Given the description of an element on the screen output the (x, y) to click on. 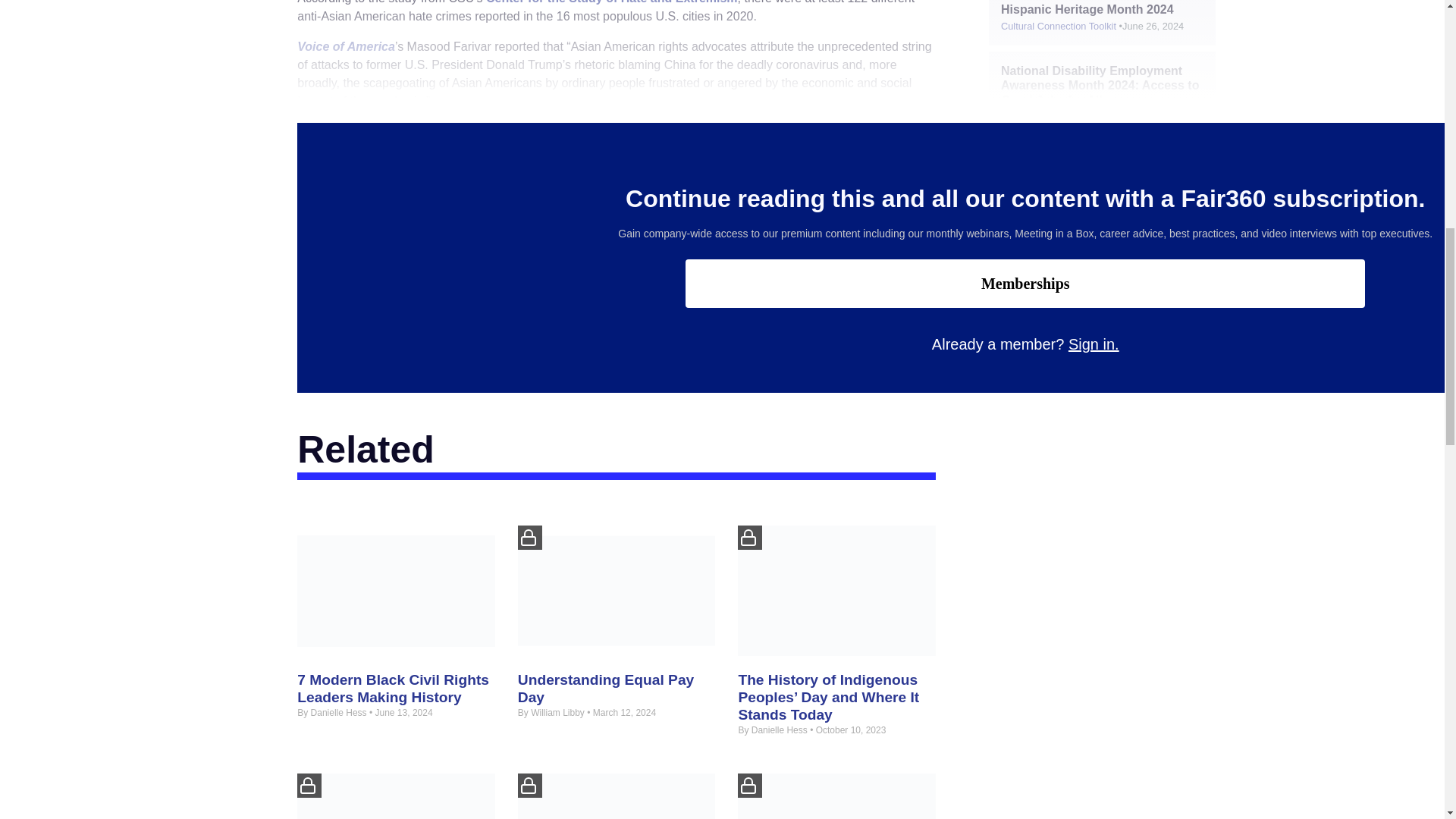
Go to: Employee Resource Groups (1061, 193)
Go to: Cultural Connection Toolkit (1058, 25)
Go to: Cultural Connection Toolkit (1058, 116)
